Given the description of an element on the screen output the (x, y) to click on. 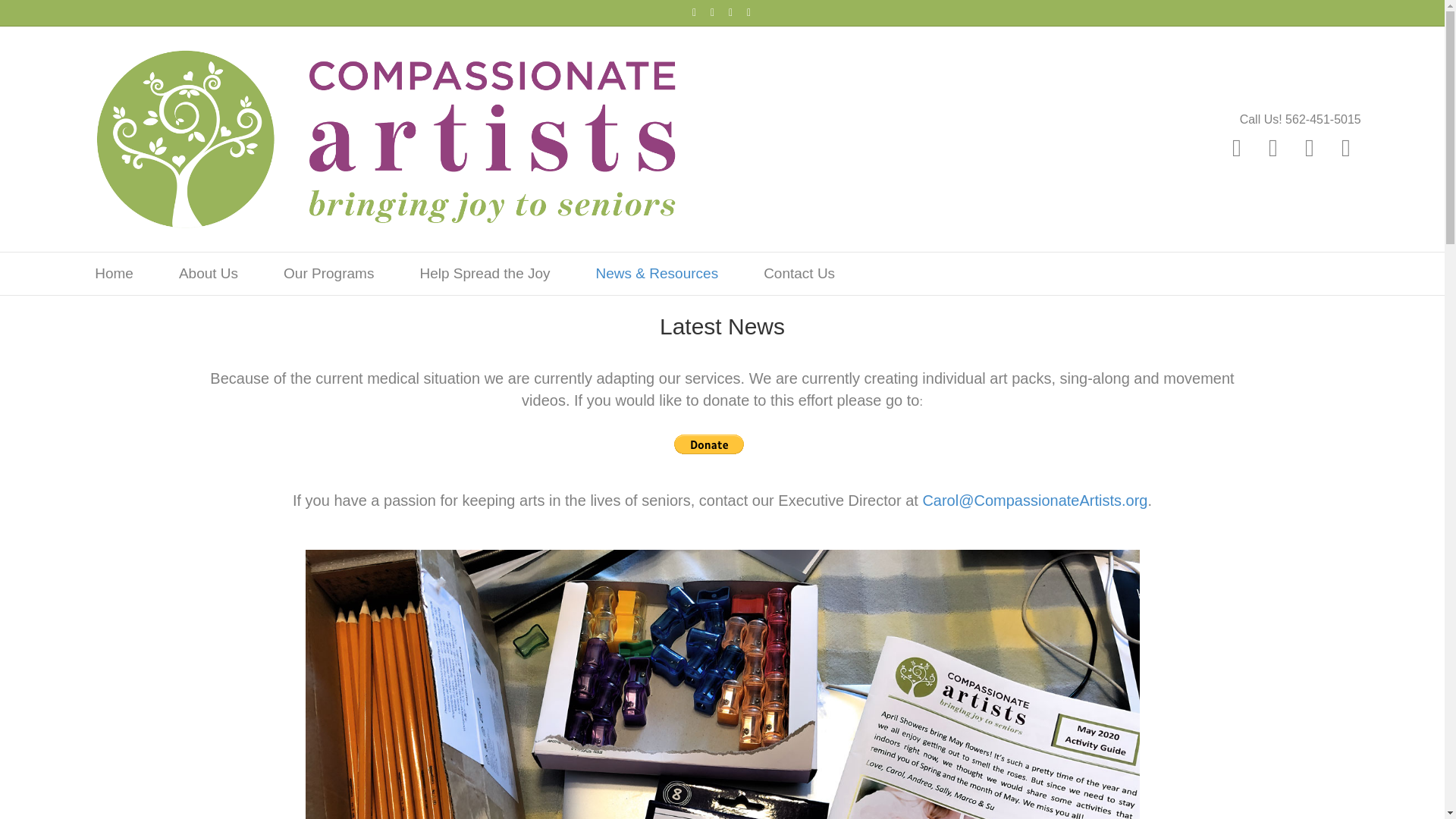
Linkedin (1309, 147)
Twitter (712, 11)
Twitter (1272, 147)
PayPal - The safer, easier way to pay online! (709, 444)
Linkedin (730, 11)
Facebook (1236, 147)
About Us (207, 273)
Facebook (694, 11)
Instagram (1345, 147)
Instagram (748, 11)
Home (113, 273)
